Given the description of an element on the screen output the (x, y) to click on. 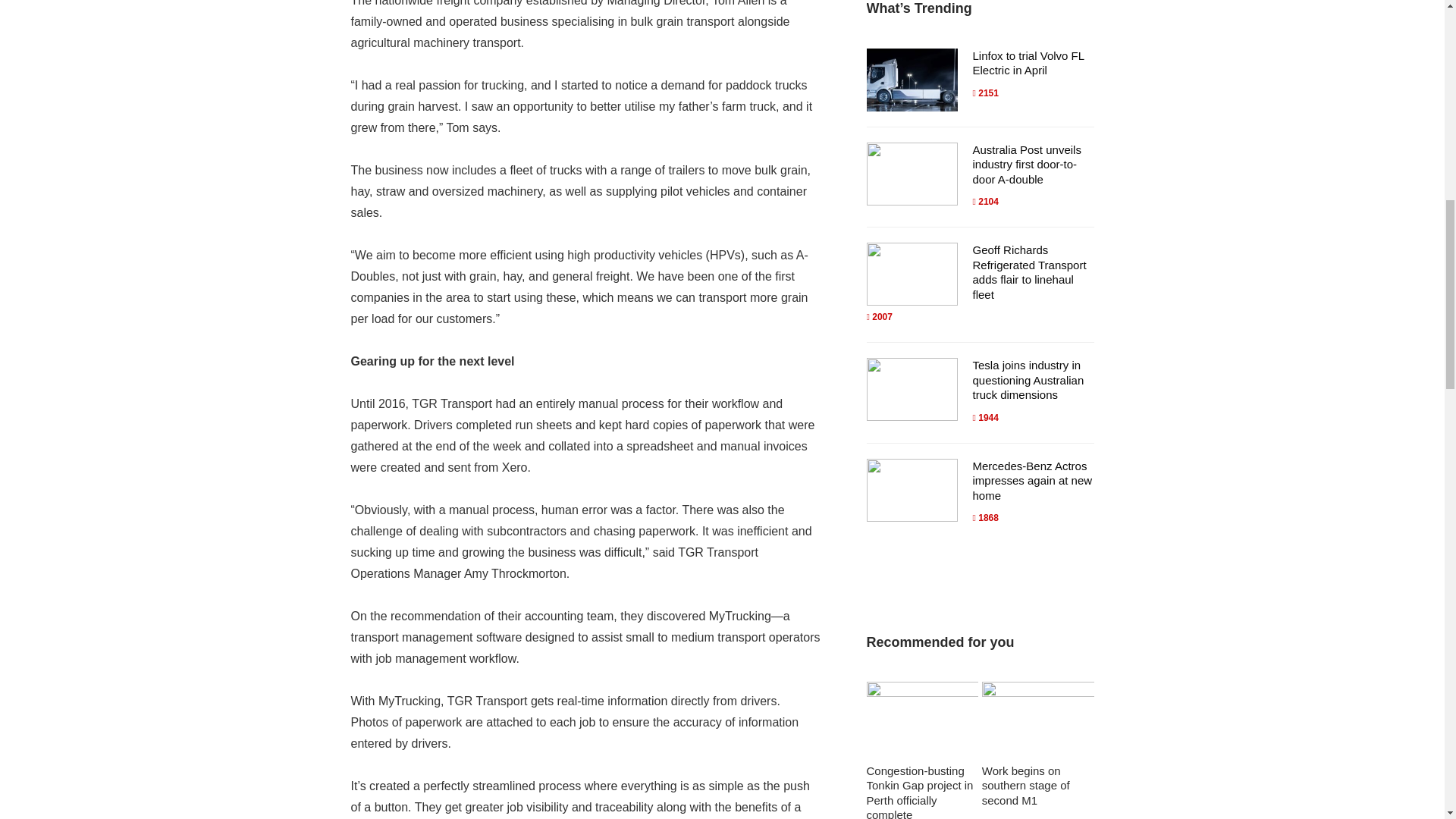
View Linfox to trial Volvo FL Electric in April (1027, 62)
